Given the description of an element on the screen output the (x, y) to click on. 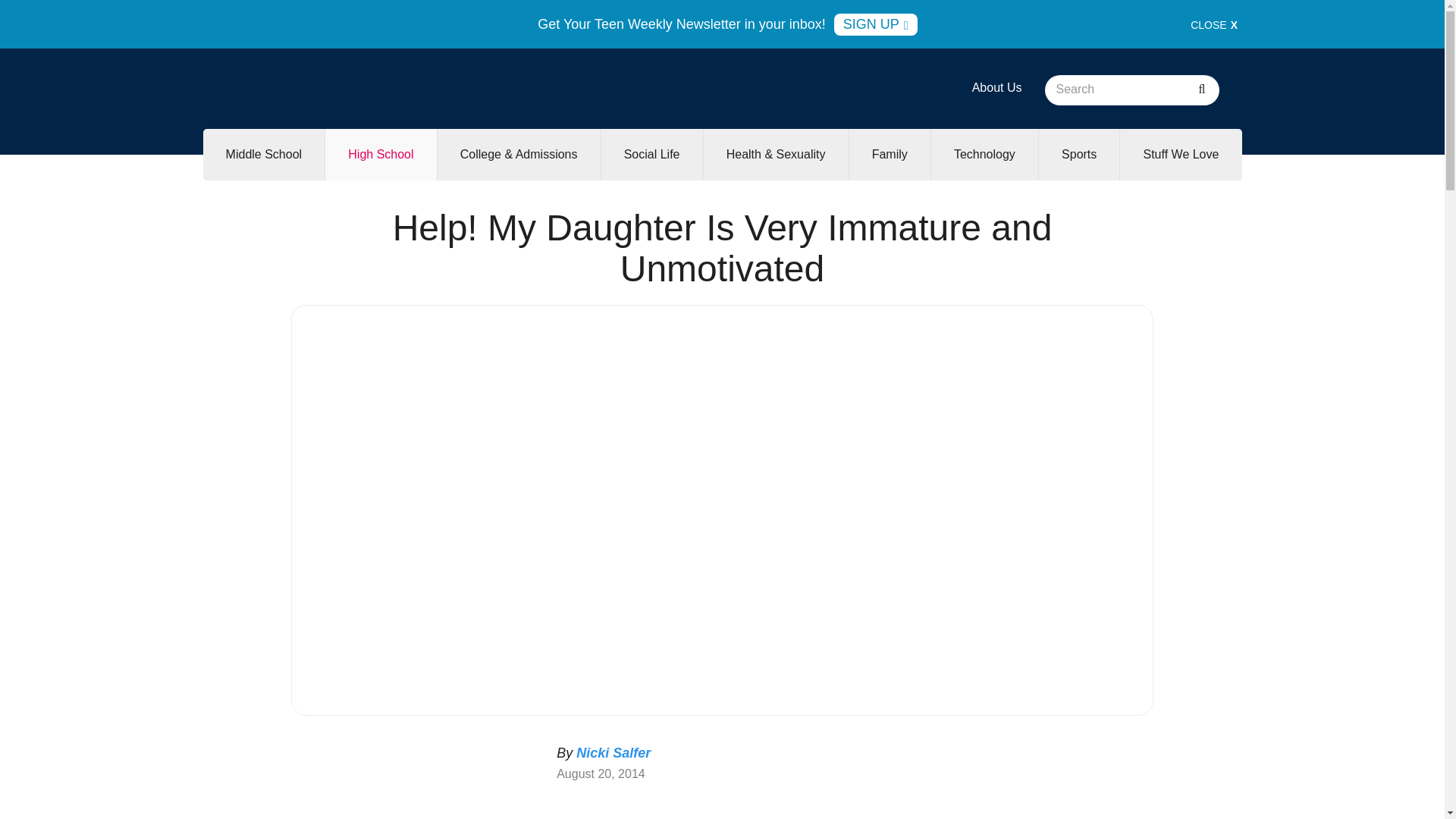
Search (1201, 90)
Stuff We Love (1180, 154)
Middle School (263, 154)
Sports (1079, 154)
CLOSE (1214, 24)
SIGN UP (875, 24)
Family (889, 154)
About Us (997, 87)
Technology (984, 154)
